Given the description of an element on the screen output the (x, y) to click on. 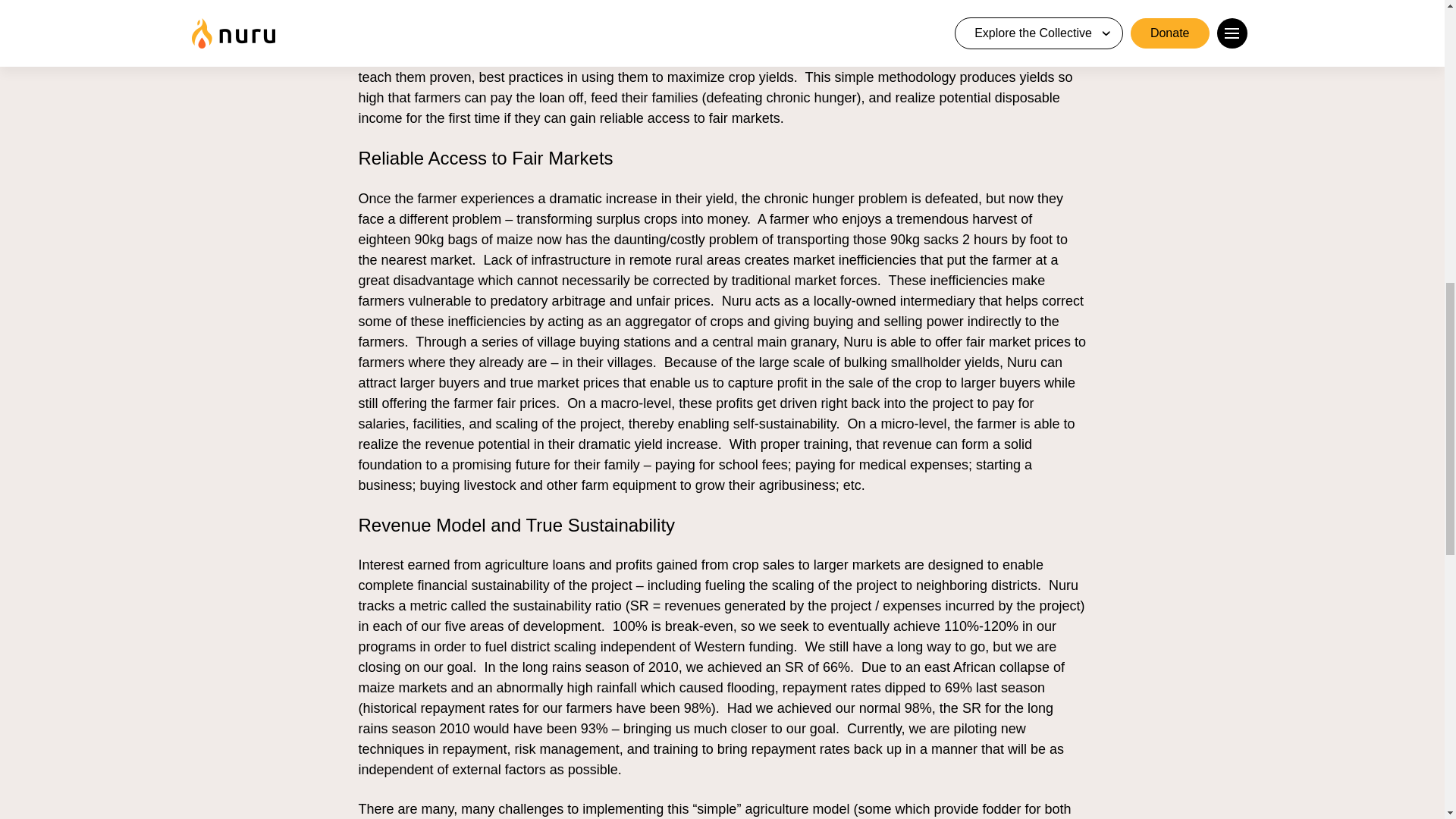
One Acre Fund (691, 15)
